Given the description of an element on the screen output the (x, y) to click on. 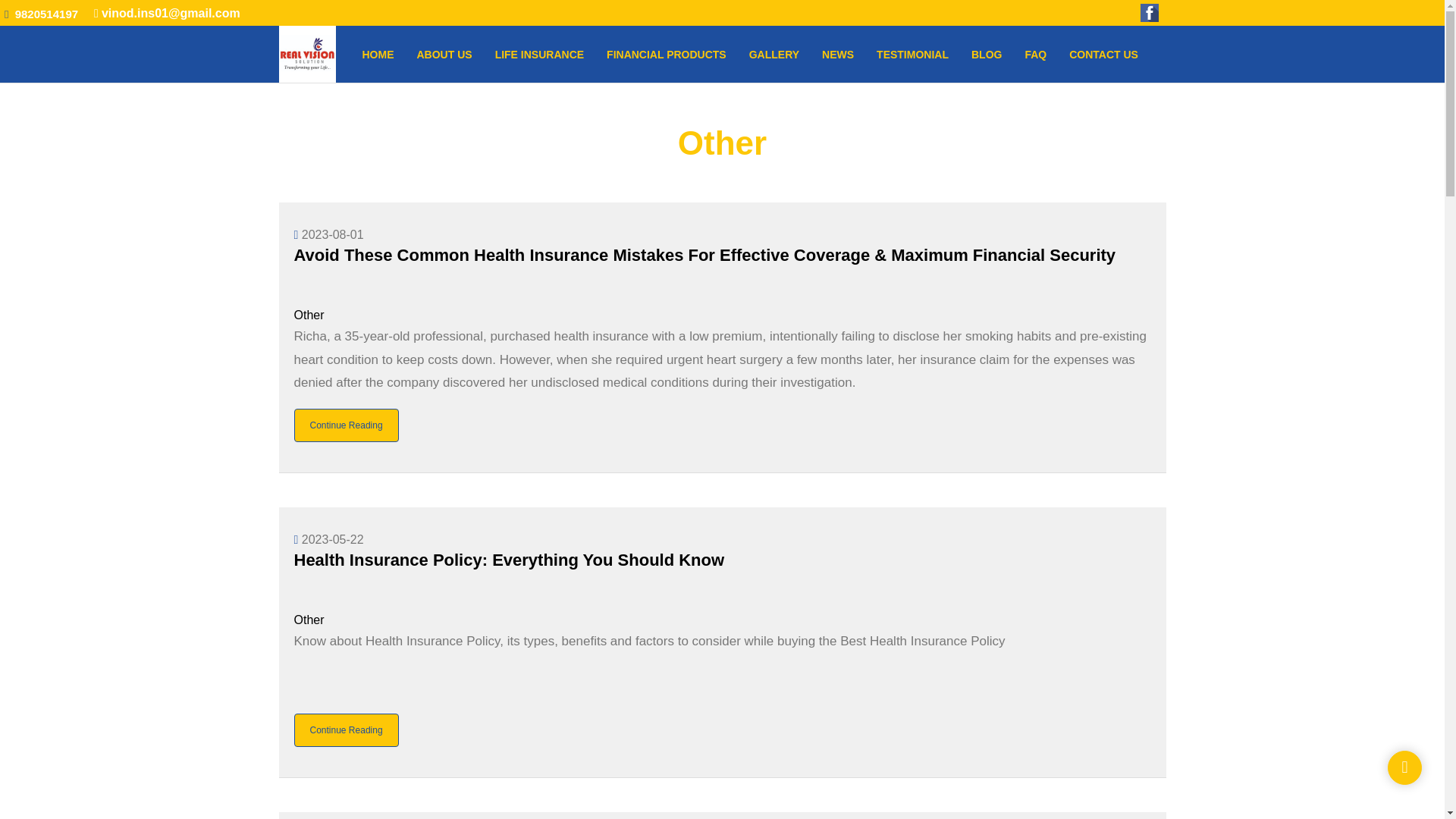
ABOUT US (443, 53)
GALLERY (774, 53)
BLOG (986, 53)
FAQ (1035, 53)
TESTIMONIAL (912, 53)
Facebook (1150, 12)
9820514197 (44, 13)
HOME (378, 53)
CONTACT US (1103, 53)
